Given the description of an element on the screen output the (x, y) to click on. 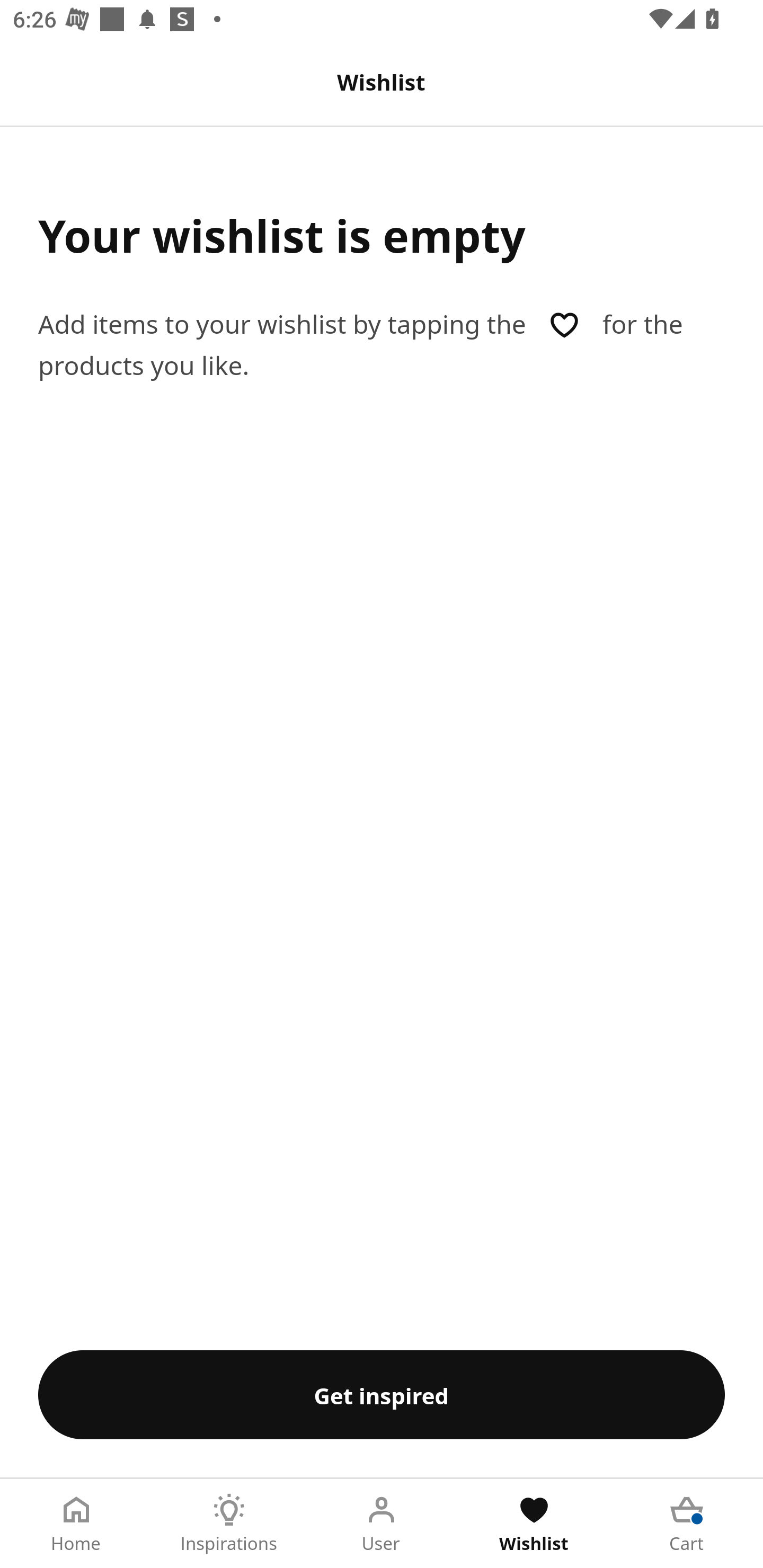
Get inspired (381, 1394)
Home
Tab 1 of 5 (76, 1522)
Inspirations
Tab 2 of 5 (228, 1522)
User
Tab 3 of 5 (381, 1522)
Wishlist
Tab 4 of 5 (533, 1522)
Cart
Tab 5 of 5 (686, 1522)
